Given the description of an element on the screen output the (x, y) to click on. 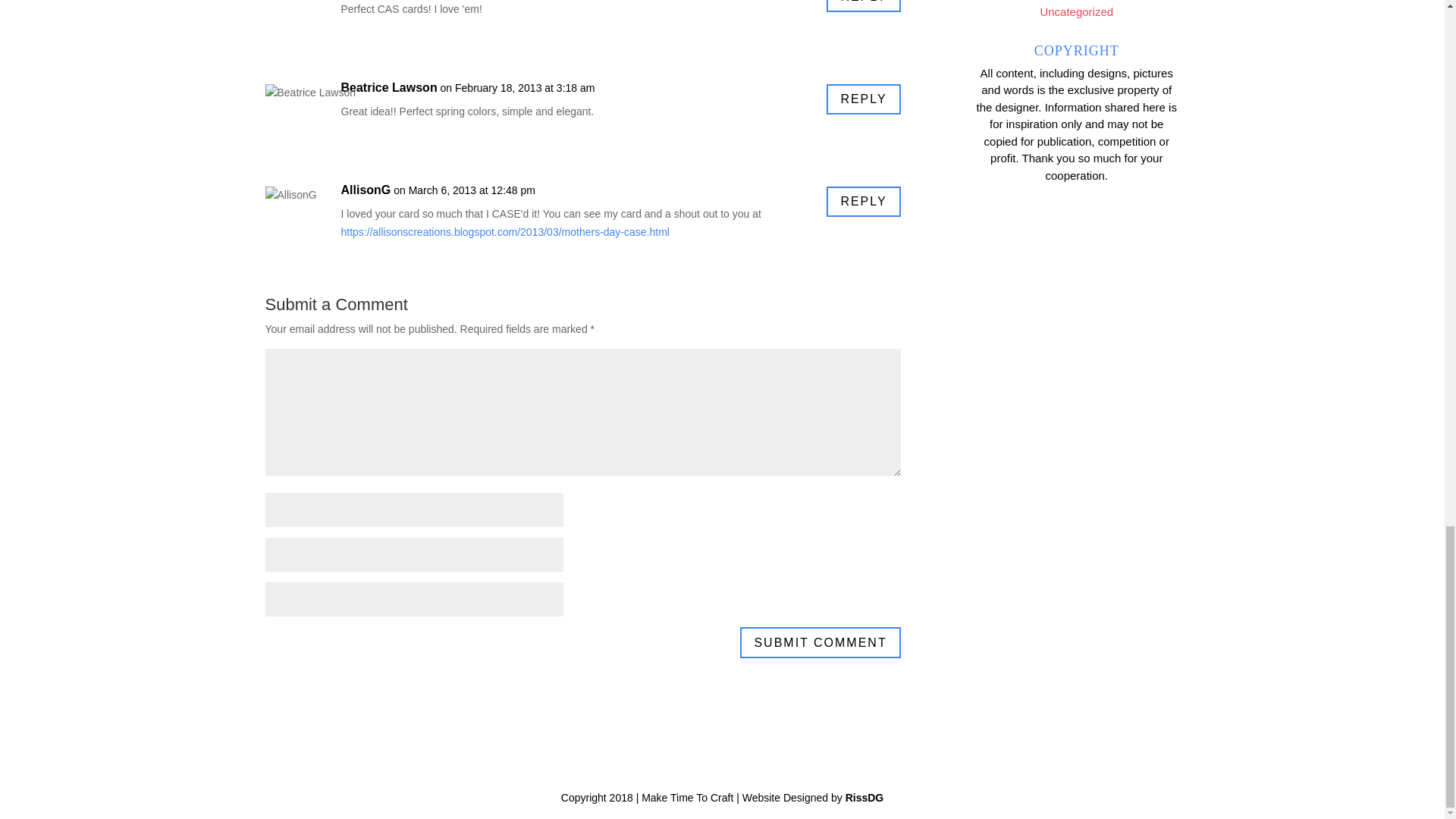
Submit Comment (819, 642)
